Given the description of an element on the screen output the (x, y) to click on. 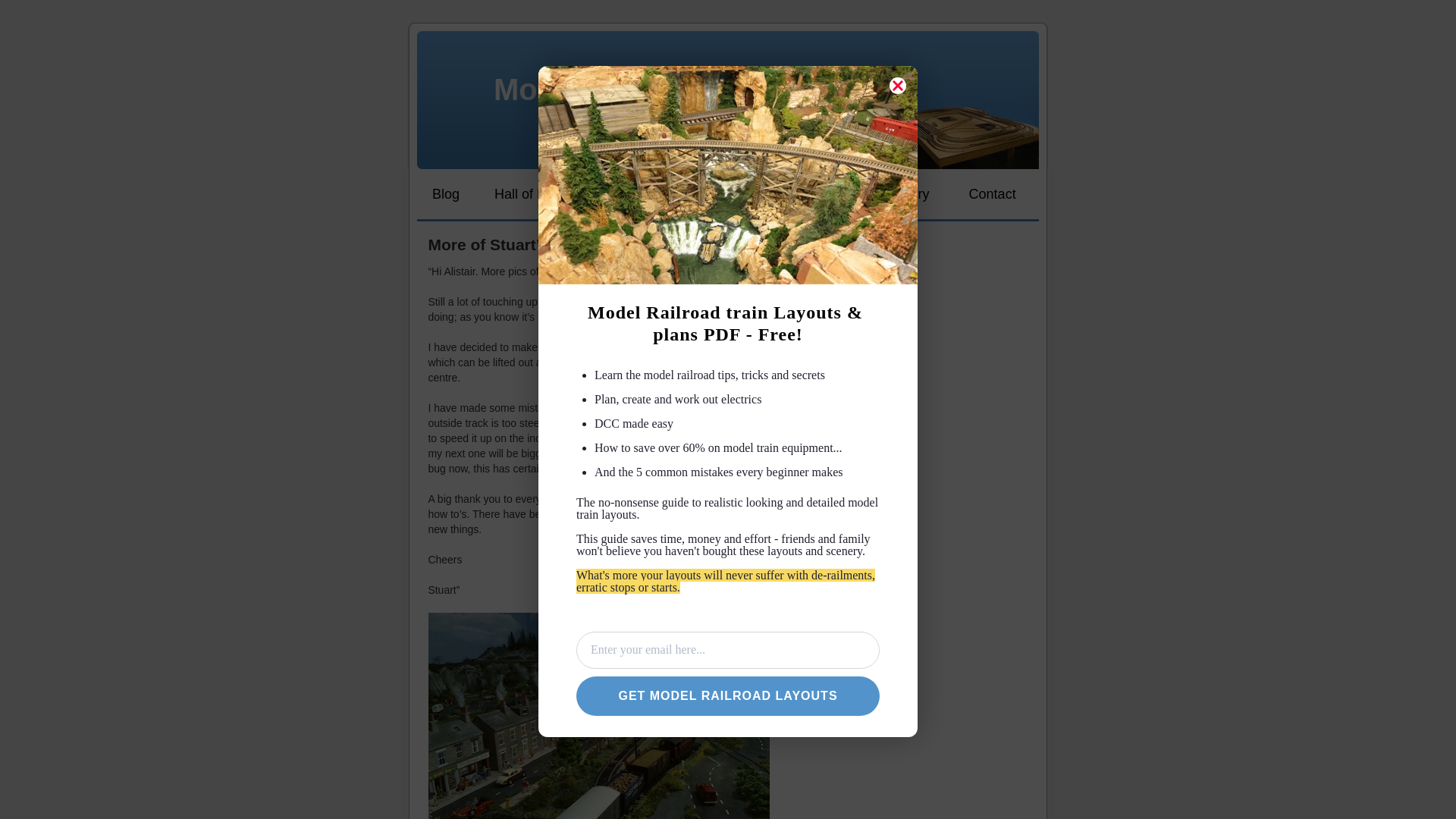
Blog (445, 193)
Model railroad layouts plans (697, 89)
Train layouts (649, 193)
Hall of Fame (532, 193)
Model train scenery (904, 193)
Photo0277 (599, 715)
Model railroad layouts plans (697, 89)
